Given the description of an element on the screen output the (x, y) to click on. 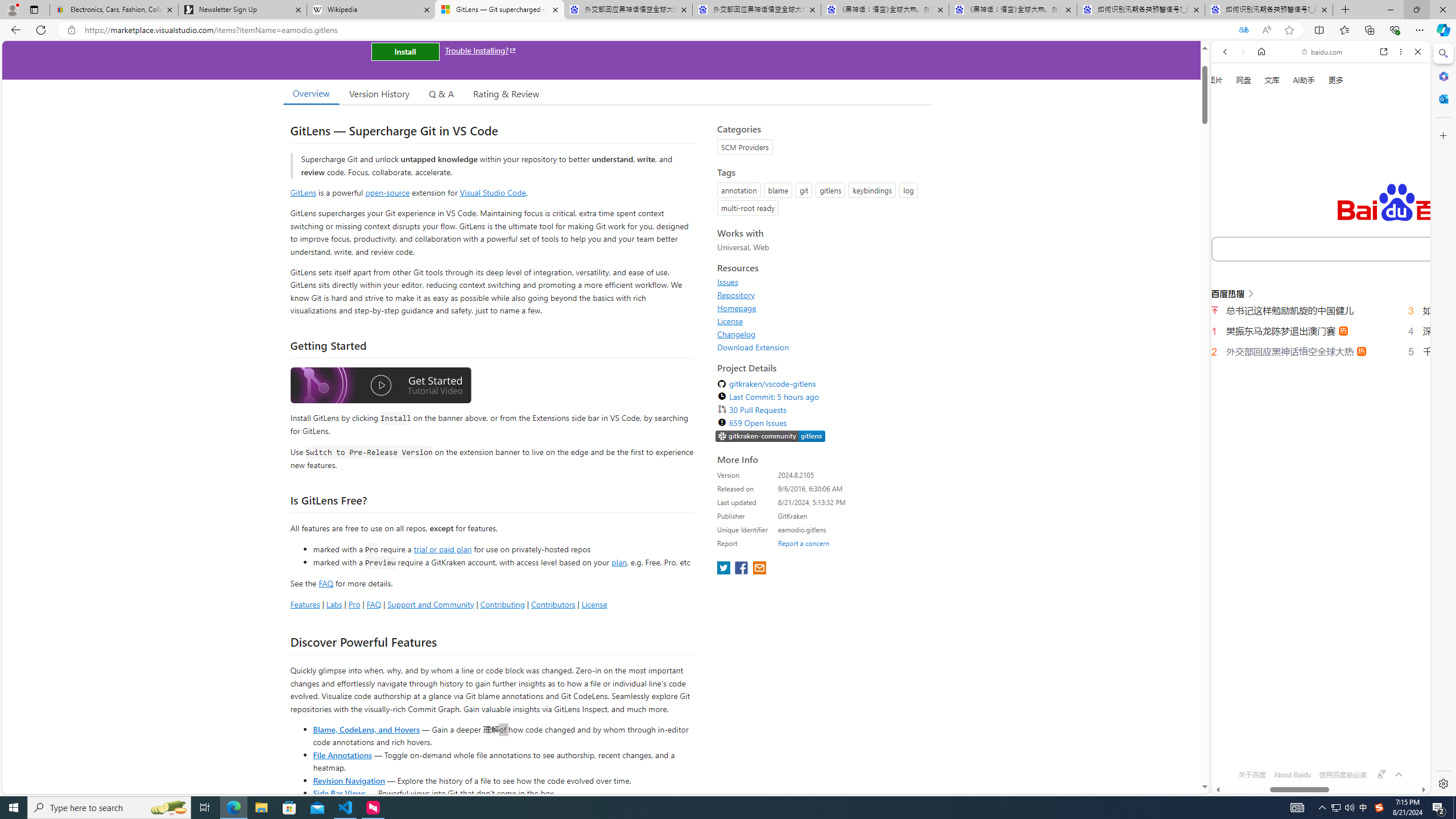
Learn more (1264, 154)
Support and Community (430, 603)
Watch the GitLens Getting Started video (380, 385)
FAQ (373, 603)
